Given the description of an element on the screen output the (x, y) to click on. 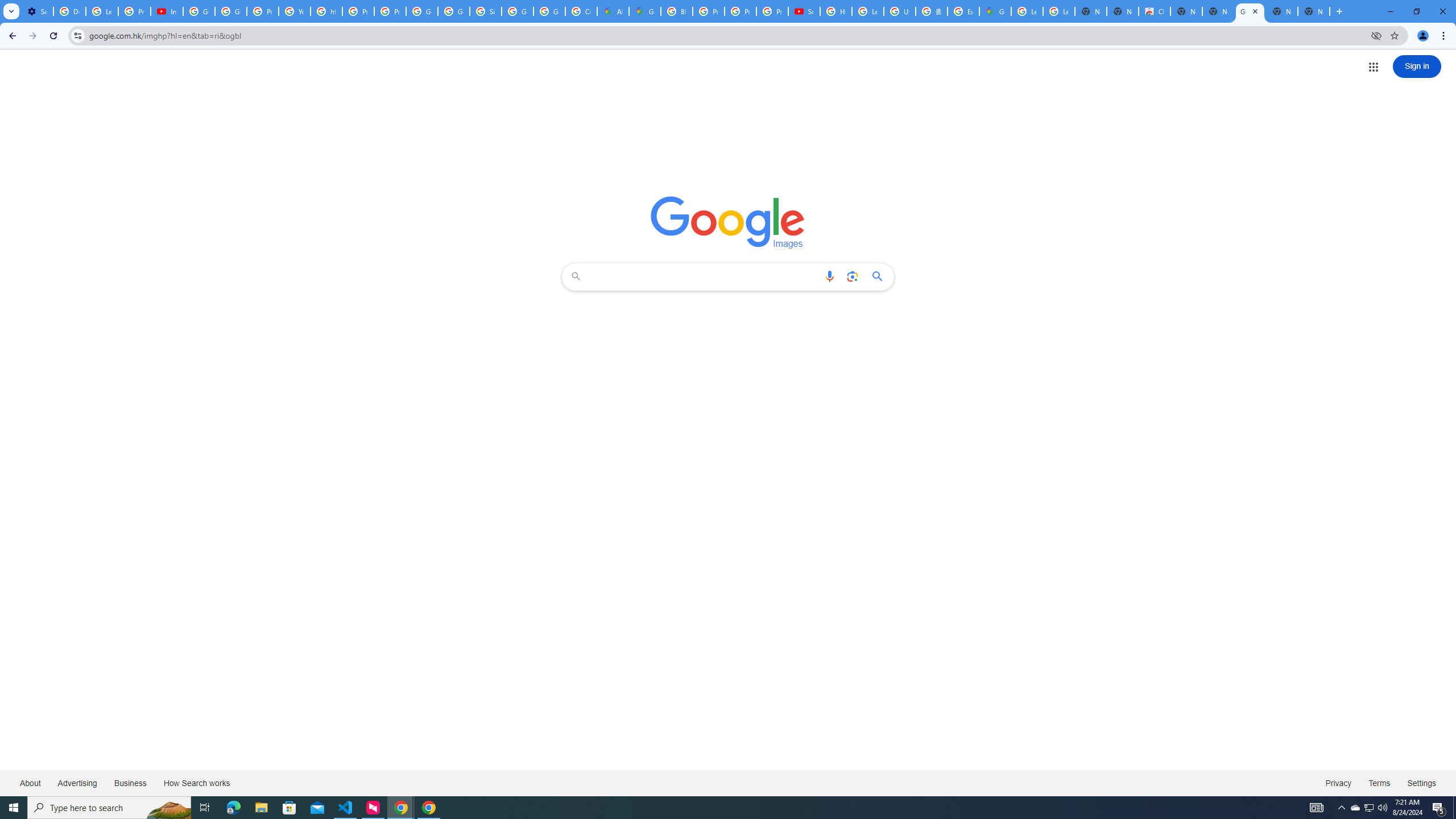
Subscriptions - YouTube (804, 11)
Google Search (880, 276)
